Given the description of an element on the screen output the (x, y) to click on. 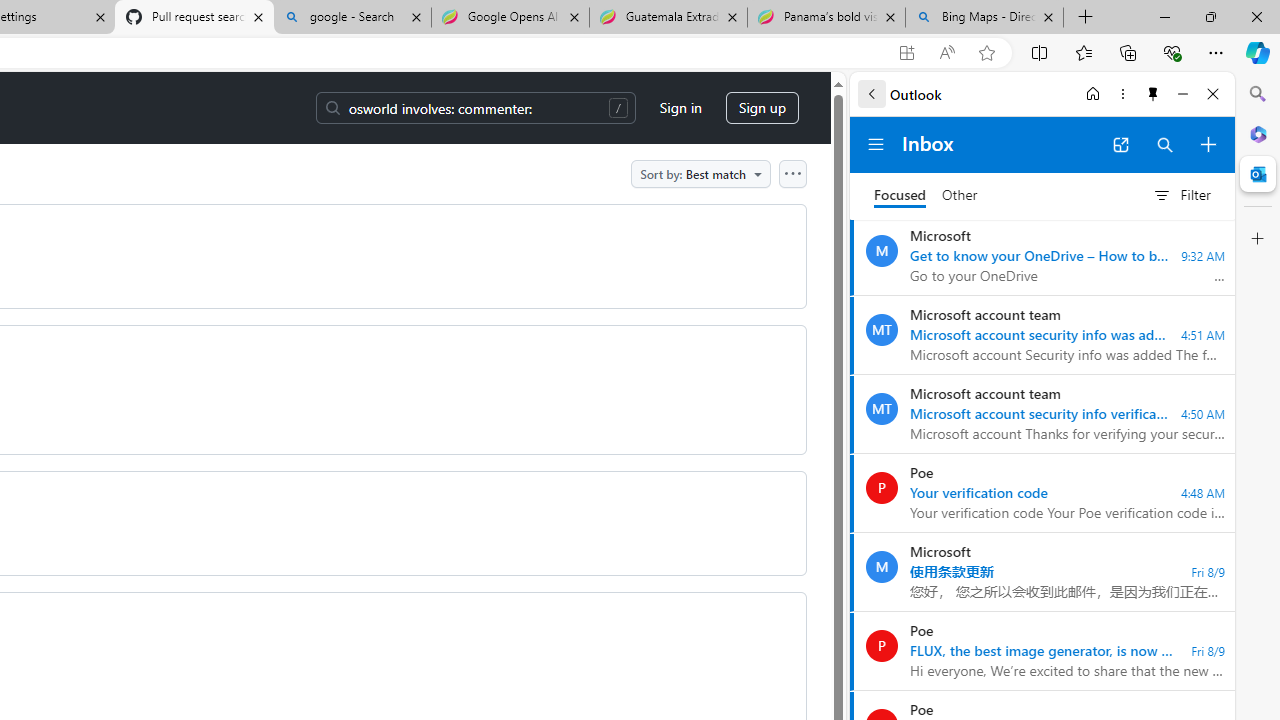
Other (959, 195)
Unpin side pane (1153, 93)
Sign in (680, 107)
App available. Install GitHub (906, 53)
Filter (1181, 195)
